Given the description of an element on the screen output the (x, y) to click on. 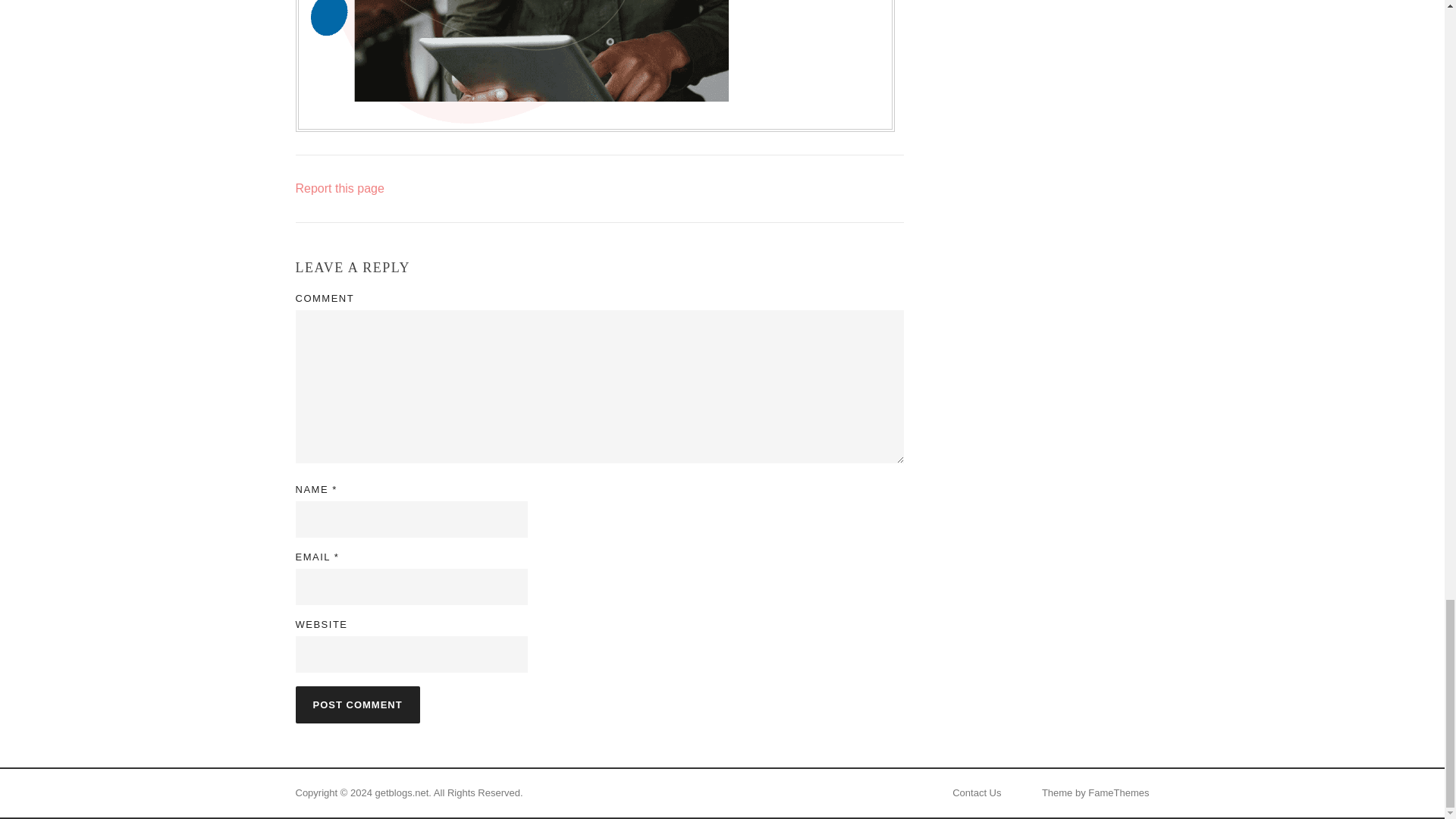
Report this page (339, 187)
Post Comment (357, 704)
Post Comment (357, 704)
